Given the description of an element on the screen output the (x, y) to click on. 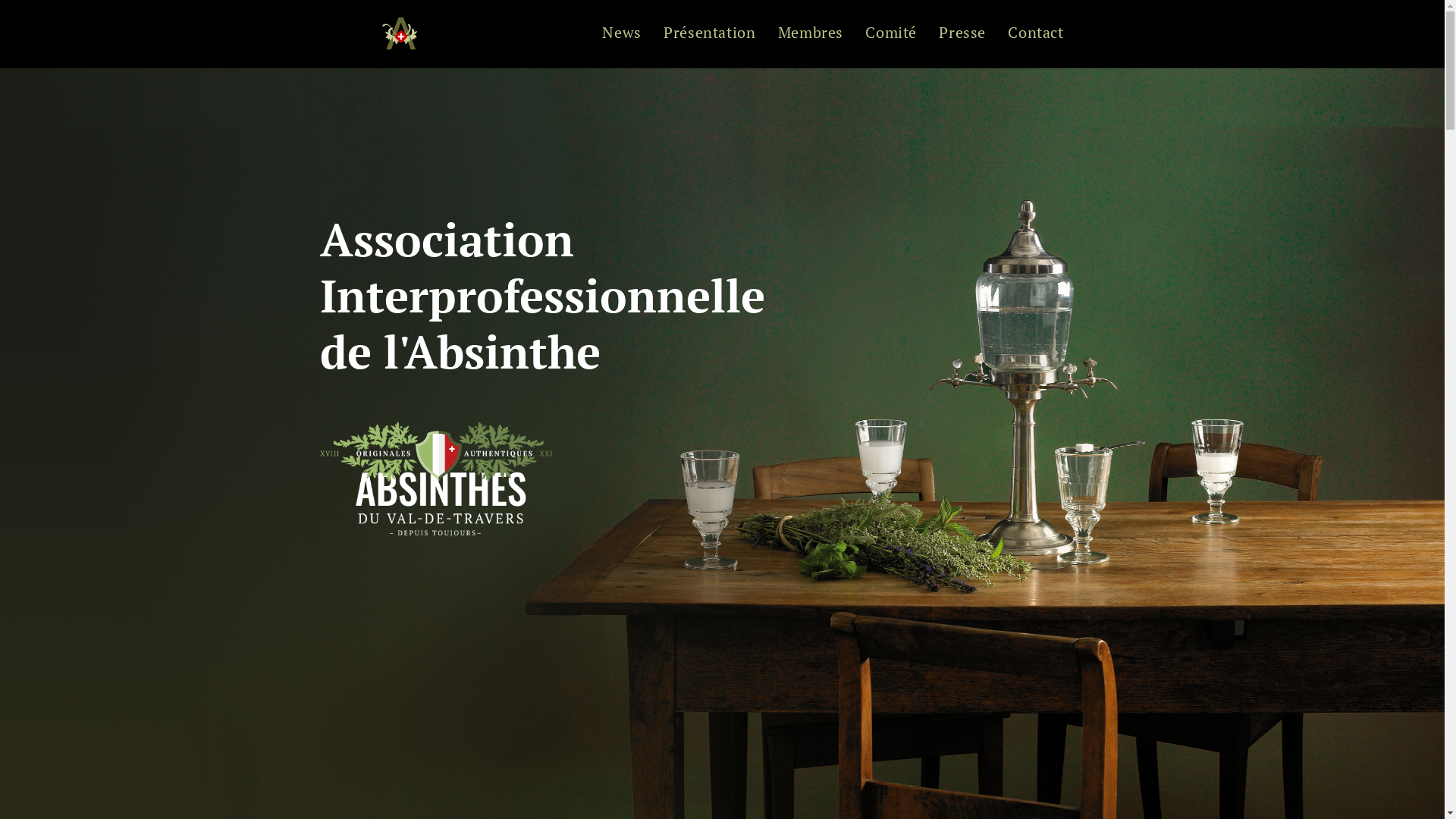
Membres Element type: text (810, 34)
News Element type: text (621, 34)
Contact Element type: text (1029, 34)
Presse Element type: text (961, 34)
